Given the description of an element on the screen output the (x, y) to click on. 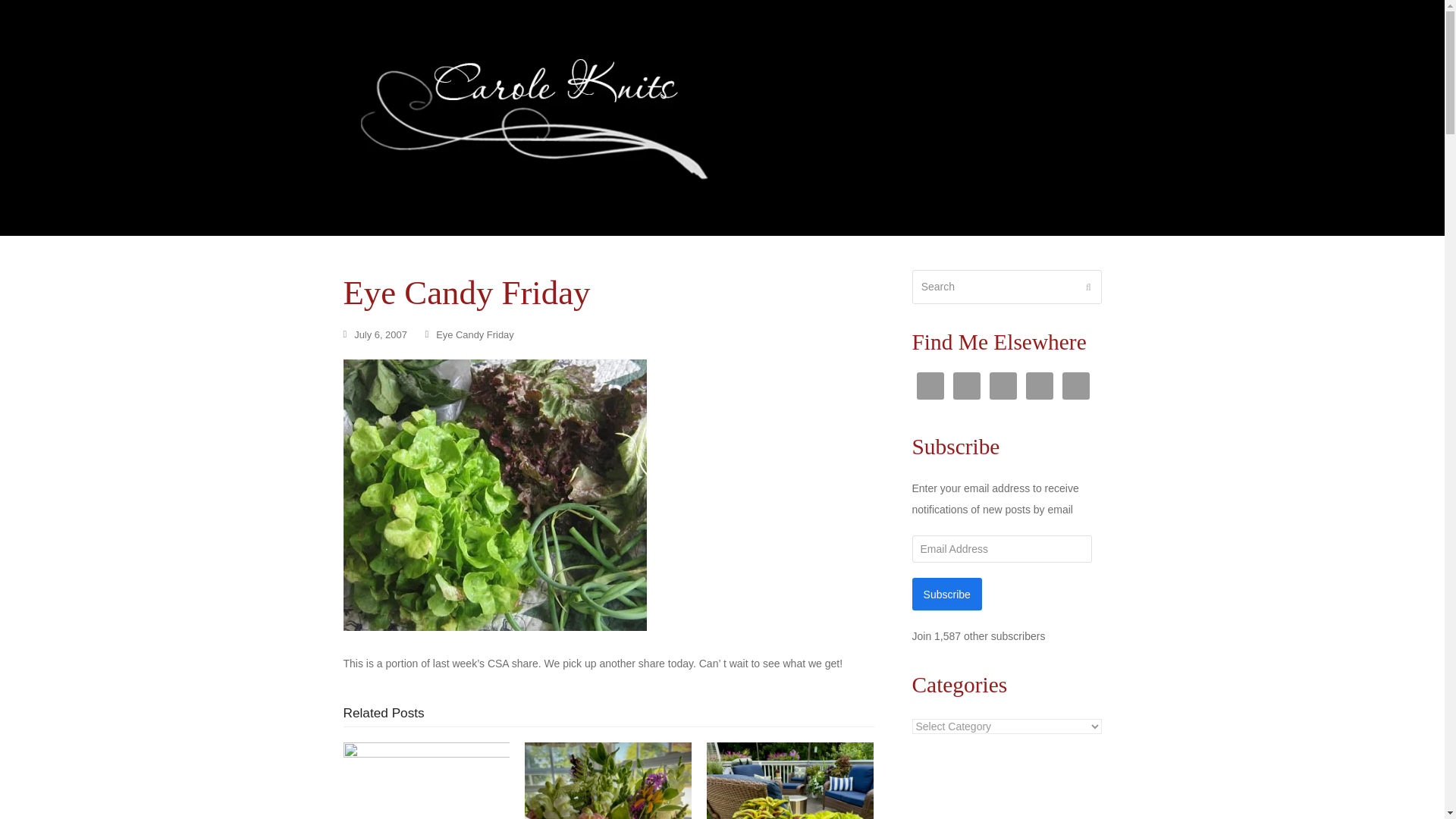
Eye Candy Friday (474, 334)
